Given the description of an element on the screen output the (x, y) to click on. 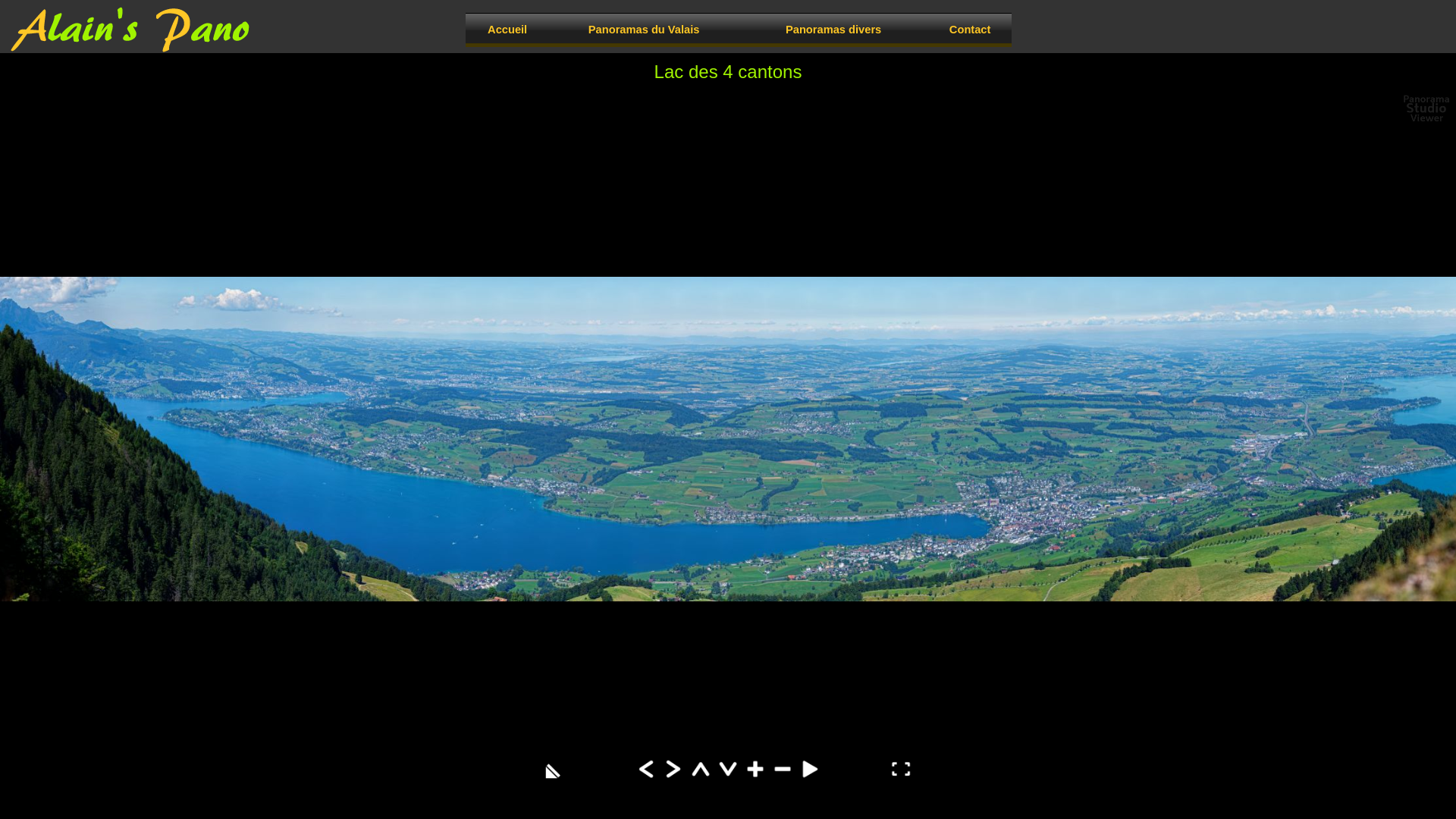
Panoramas du Valais Element type: text (643, 29)
Accueil Element type: text (507, 29)
Panoramas divers Element type: text (833, 29)
Contact Element type: text (969, 29)
